Given the description of an element on the screen output the (x, y) to click on. 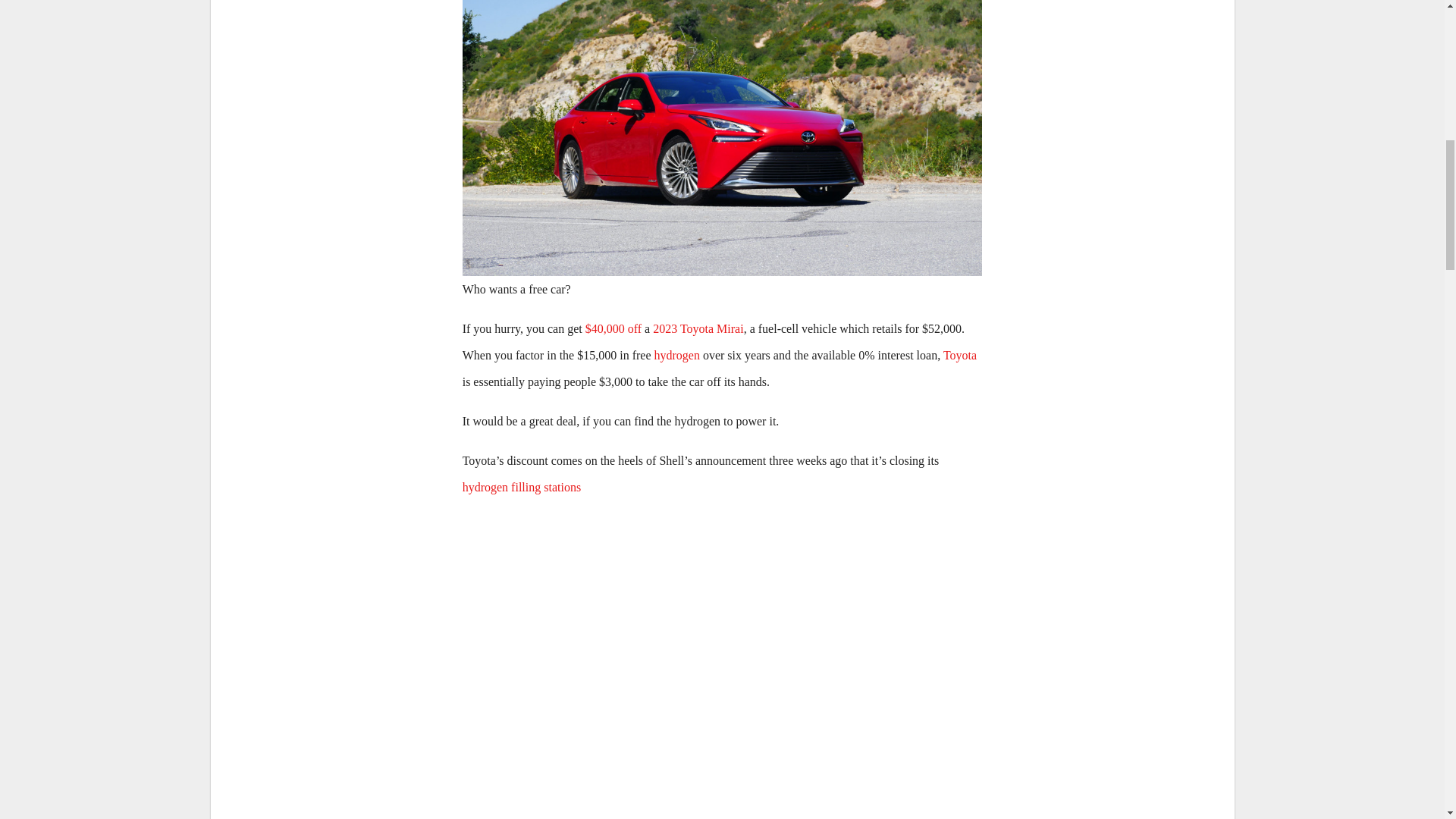
2023 Toyota Mirai (697, 328)
Toyota (959, 354)
Advertisement (721, 589)
hydrogen (675, 354)
hydrogen filling stations (521, 486)
Advertisement (722, 746)
